Given the description of an element on the screen output the (x, y) to click on. 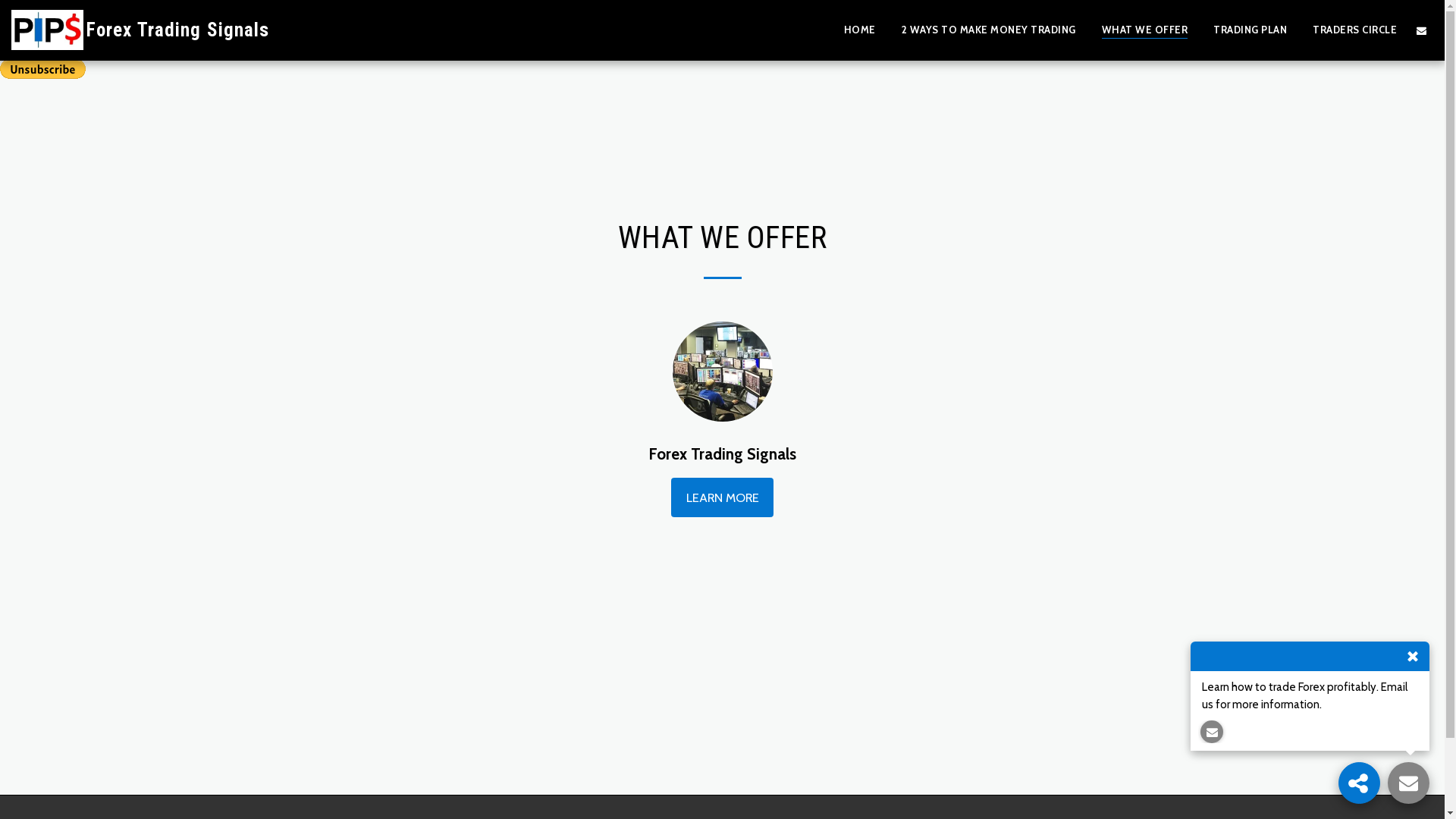
  Element type: text (1359, 782)
HOME Element type: text (859, 29)
TRADING PLAN Element type: text (1250, 29)
TRADERS CIRCLE Element type: text (1354, 29)
LEARN MORE Element type: text (721, 497)
  Element type: text (1408, 782)
  Element type: text (1421, 29)
  Element type: text (1211, 731)
2 WAYS TO MAKE MONEY TRADING Element type: text (987, 29)
Forex Trading Signals Element type: text (140, 30)
WHAT WE OFFER Element type: text (1143, 29)
